Given the description of an element on the screen output the (x, y) to click on. 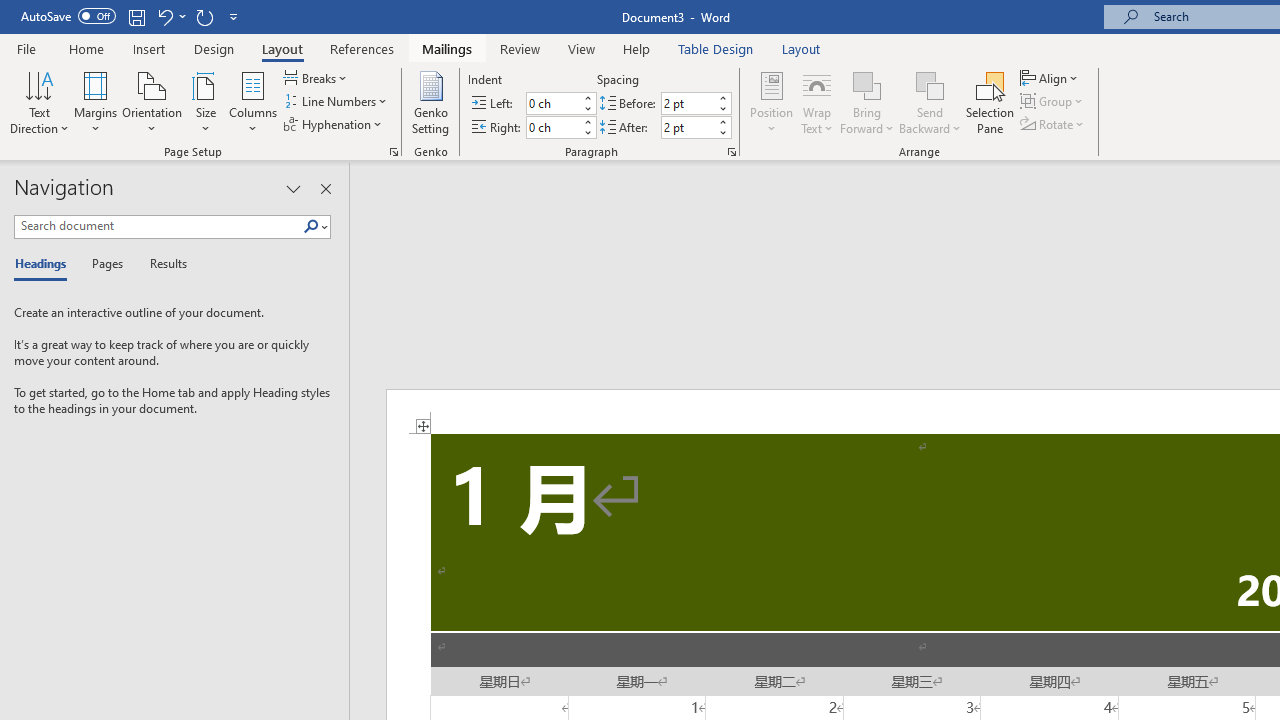
Breaks (317, 78)
Bring Forward (867, 102)
Orientation (152, 102)
Spacing After (687, 127)
Customize Quick Access Toolbar (234, 15)
System (10, 11)
Group (1053, 101)
Bring Forward (867, 84)
Headings (45, 264)
Table Design (715, 48)
Search (311, 227)
Send Backward (930, 84)
Class: NetUIImage (311, 226)
Position (771, 102)
